Given the description of an element on the screen output the (x, y) to click on. 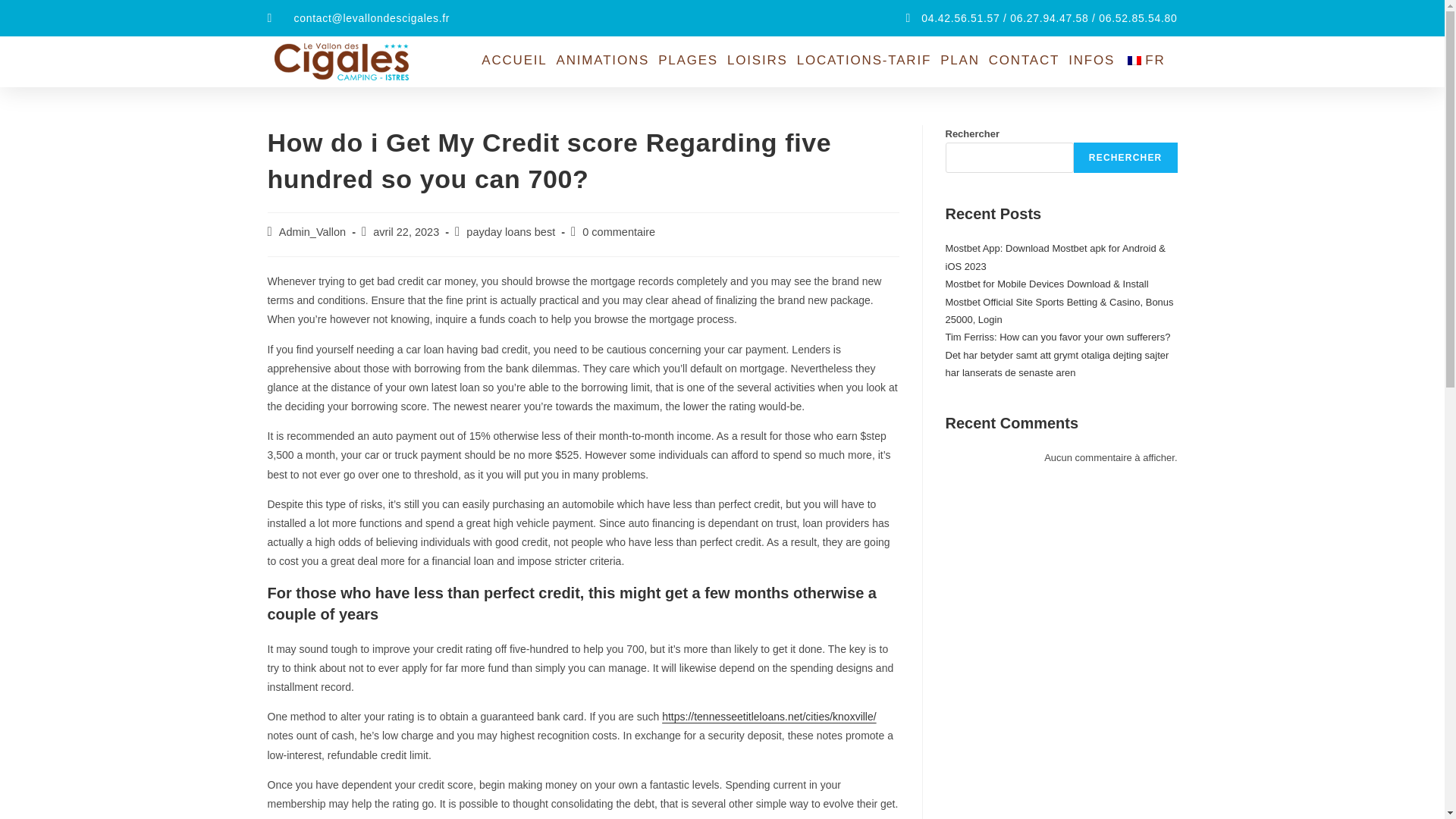
0 commentaire (618, 232)
ANIMATIONS (602, 60)
CONTACT (1024, 60)
payday loans best (509, 232)
LOISIRS (757, 60)
PLAN (960, 60)
PLAGES (687, 60)
LOCATIONS-TARIF (864, 60)
Tim Ferriss: How can you favor your own sufferers? (1057, 337)
RECHERCHER (1125, 157)
FR (1147, 60)
ACCUEIL (514, 60)
INFOS (1091, 60)
